Given the description of an element on the screen output the (x, y) to click on. 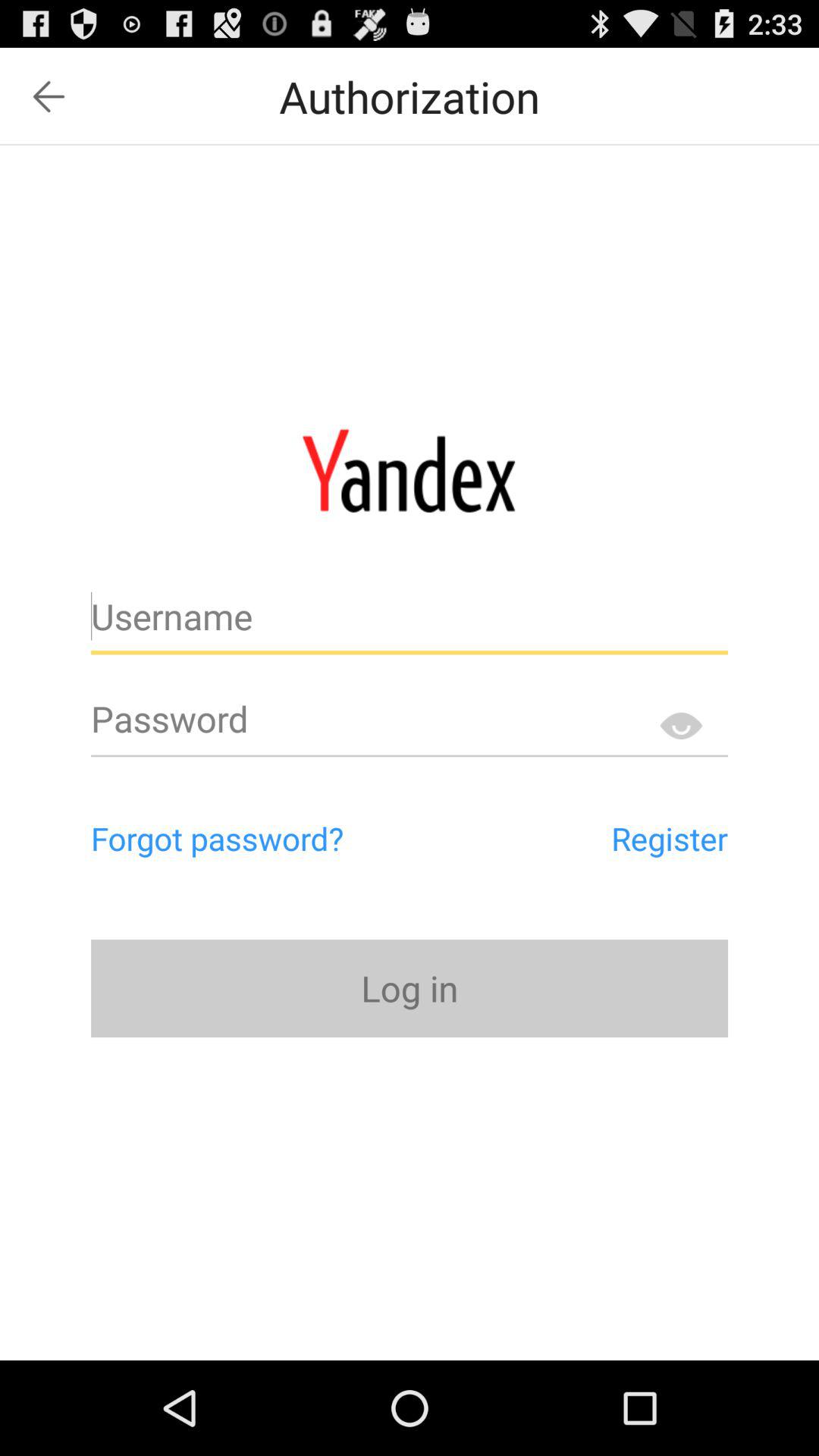
tap the button above log in icon (600, 837)
